Given the description of an element on the screen output the (x, y) to click on. 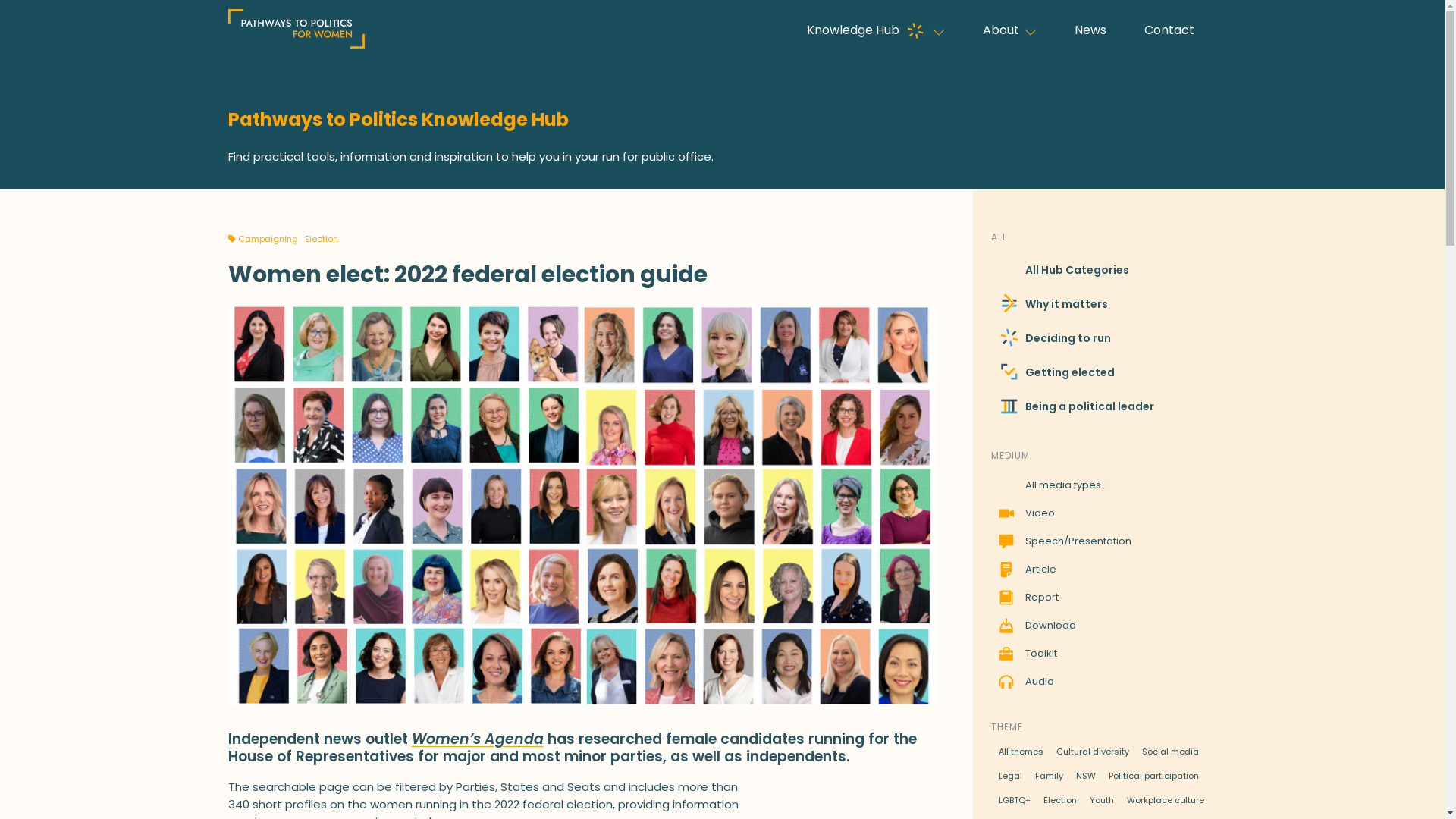
Pathways to Politics Element type: text (284, 74)
Knowledge Hub Element type: text (866, 30)
Campaigning Element type: text (268, 238)
Contact Element type: text (1168, 30)
Election Element type: text (321, 238)
News Element type: text (1089, 30)
About Element type: text (1000, 30)
Pathways to Politics Knowledge Hub Element type: text (721, 120)
Women elect: 2022 federal election guide Element type: hover (581, 700)
